Given the description of an element on the screen output the (x, y) to click on. 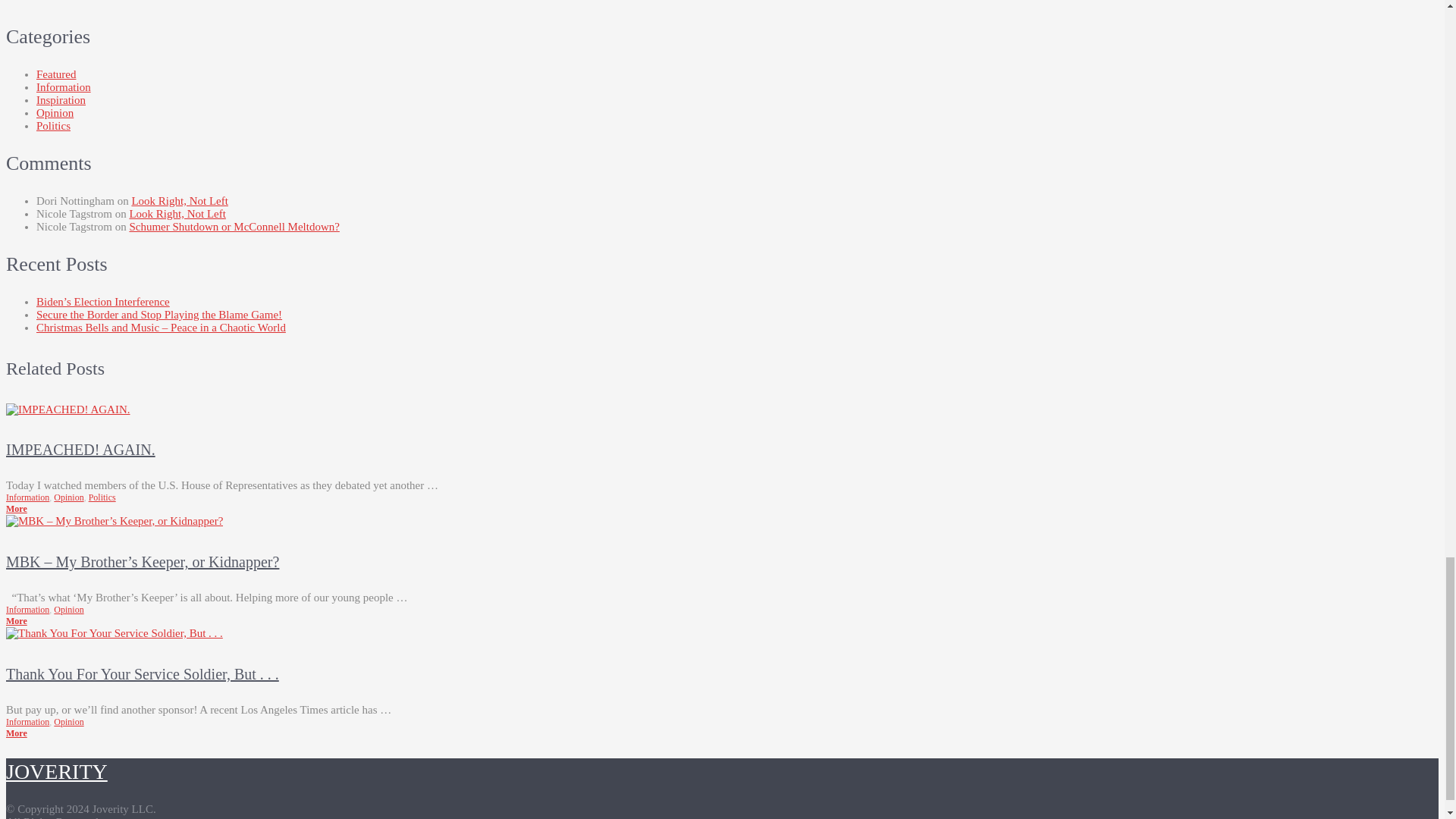
View all posts in Opinion (67, 497)
Opinion (67, 609)
View all posts in Opinion (67, 609)
View all posts in Information (27, 609)
Politics (52, 125)
View all posts in Politics (102, 497)
Look Right, Not Left (179, 200)
Featured (55, 73)
Opinion (67, 497)
Schumer Shutdown or McConnell Meltdown? (234, 226)
